Given the description of an element on the screen output the (x, y) to click on. 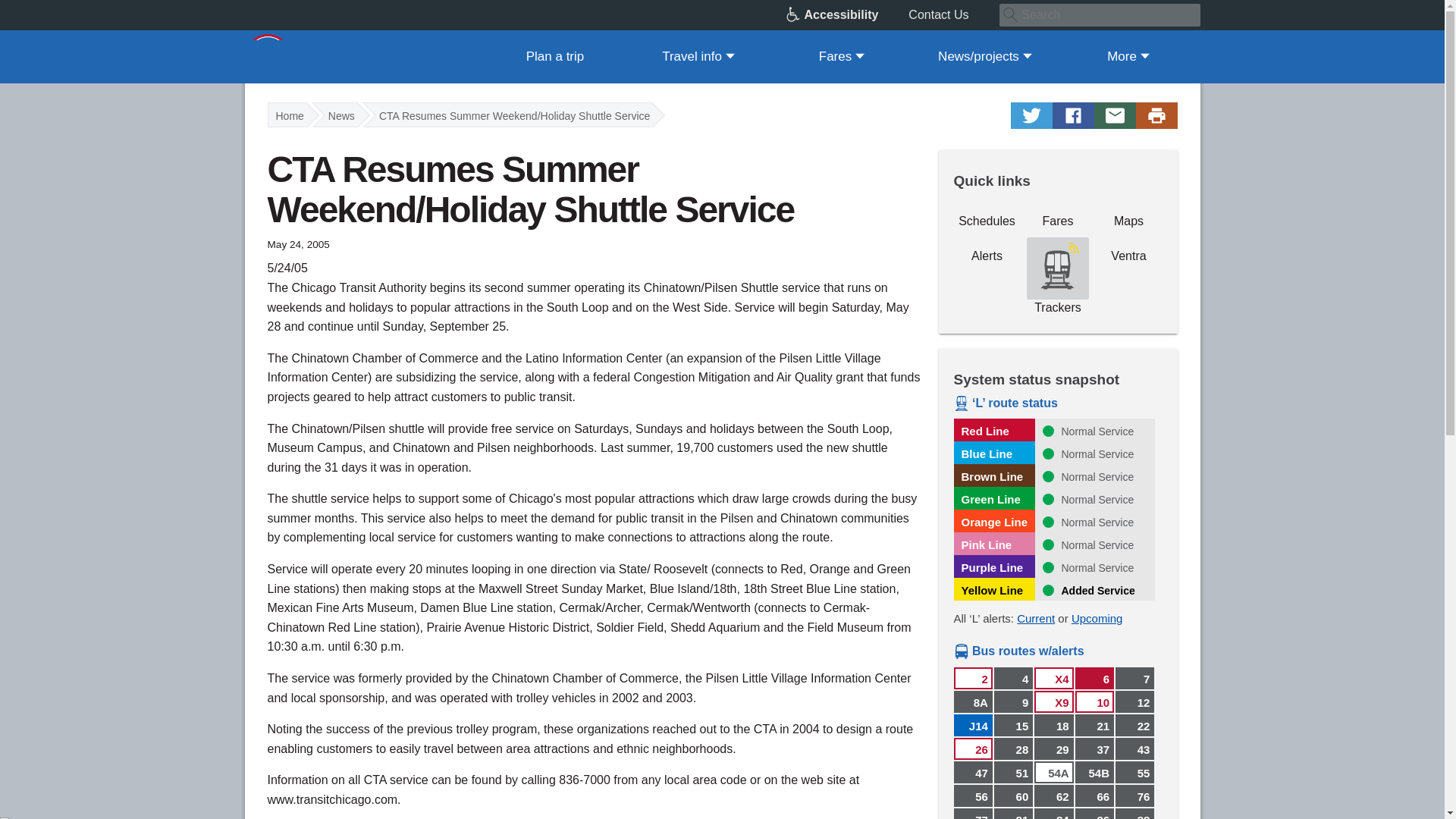
Accessibility (847, 15)
Plan a trip (555, 56)
Travel info (698, 56)
Contact Us (953, 15)
